Given the description of an element on the screen output the (x, y) to click on. 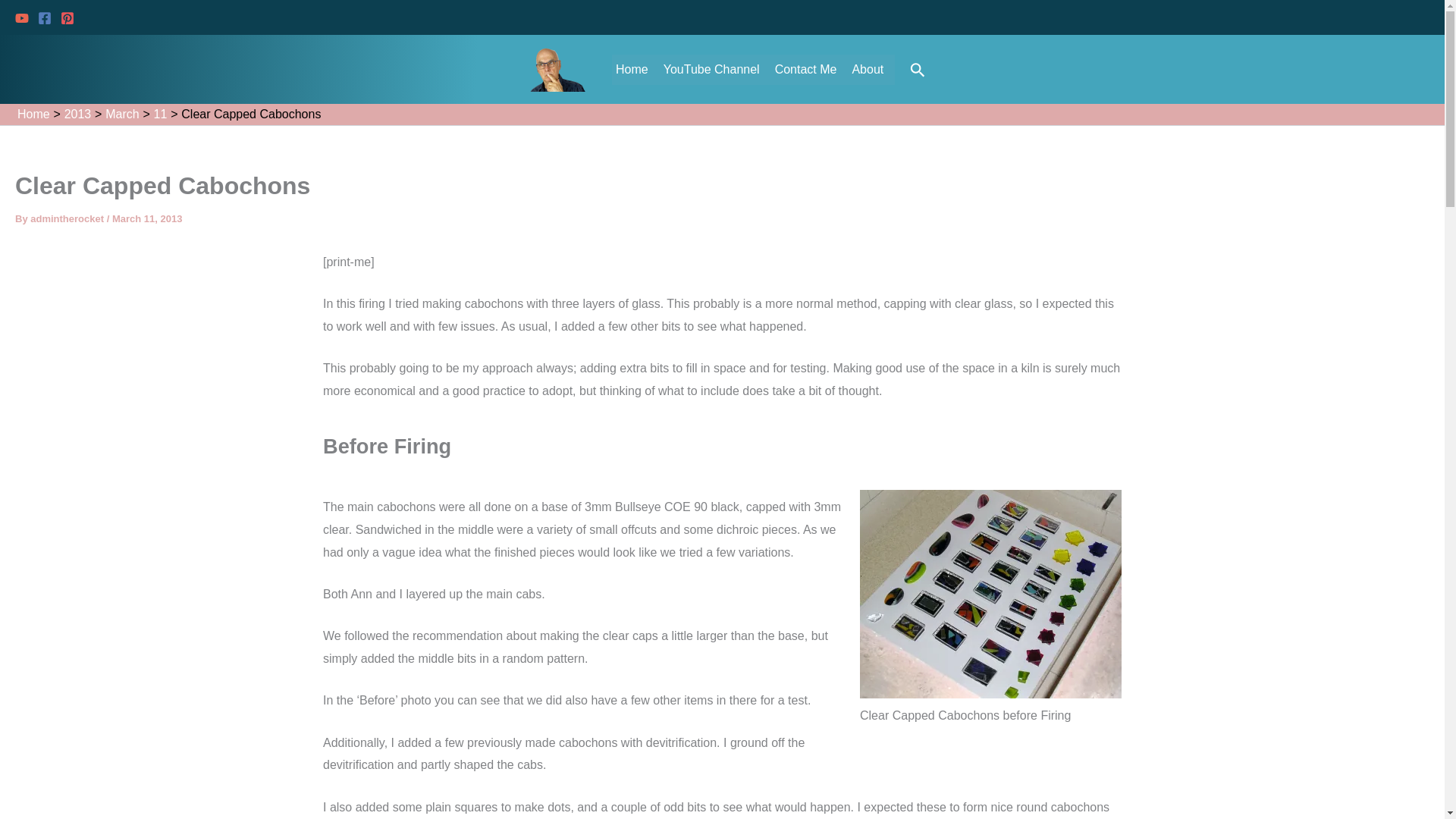
11 (160, 113)
admintherocket (68, 218)
2013 (77, 113)
Home (33, 113)
About (871, 69)
March (121, 113)
Home (635, 69)
Contact Me (809, 69)
YouTube Channel (715, 69)
View all posts by admintherocket (68, 218)
